Given the description of an element on the screen output the (x, y) to click on. 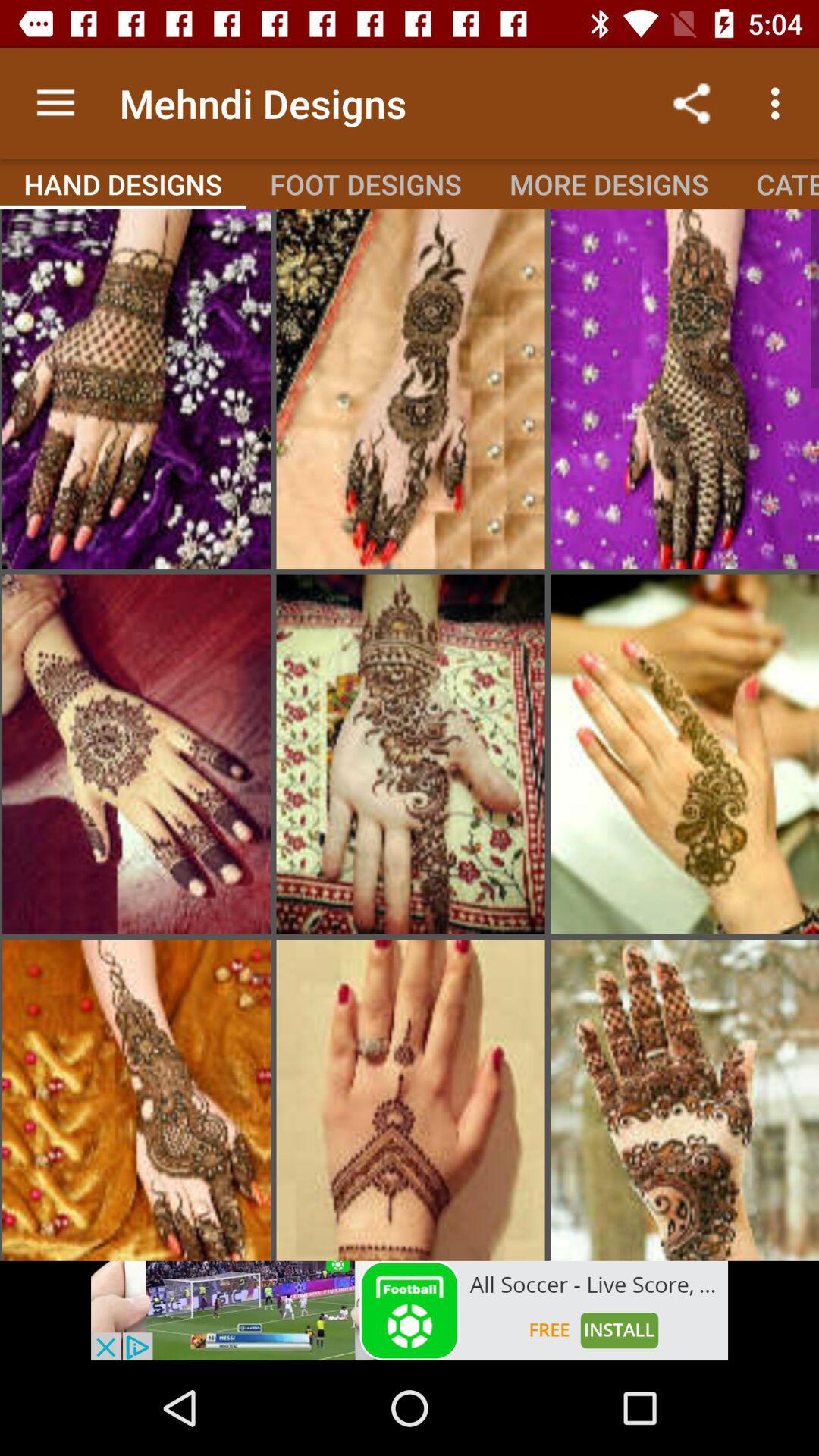
mehandi images icon (136, 388)
